Given the description of an element on the screen output the (x, y) to click on. 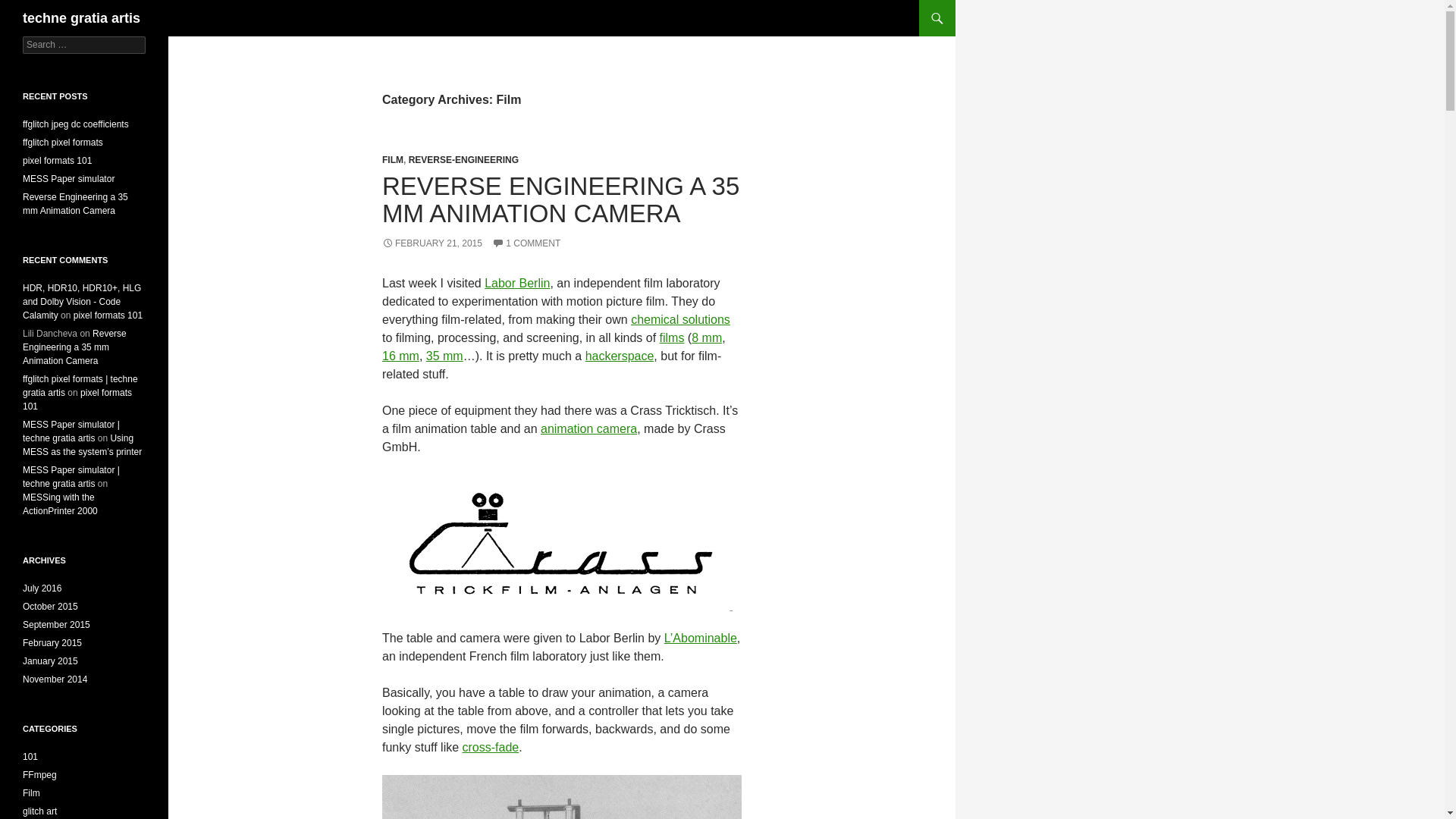
animation camera (588, 428)
FILM (392, 159)
35 mm (444, 355)
cross-fade (491, 747)
1 COMMENT (526, 243)
REVERSE-ENGINEERING (463, 159)
Labor Berlin (517, 282)
REVERSE ENGINEERING A 35 MM ANIMATION CAMERA (560, 199)
FEBRUARY 21, 2015 (431, 243)
8 mm (706, 337)
